Given the description of an element on the screen output the (x, y) to click on. 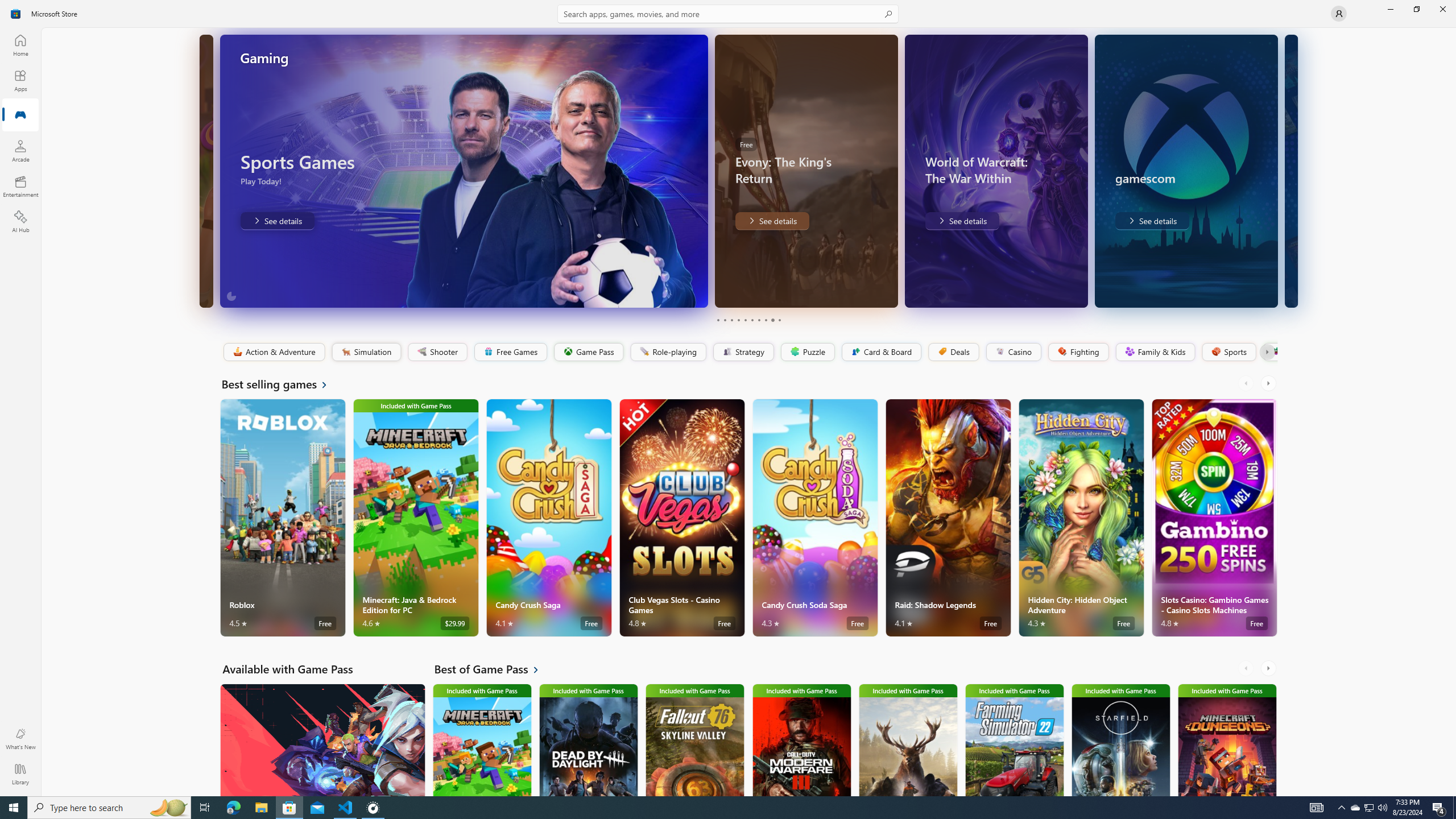
Roblox. Average rating of 4.5 out of five stars. Free   (282, 517)
Library (20, 773)
Page 5 (744, 319)
Page 1 (717, 319)
Search (727, 13)
AutomationID: LeftScrollButton (1246, 668)
Fighting (1078, 352)
Available with Game Pass. VALORANT (322, 739)
